Given the description of an element on the screen output the (x, y) to click on. 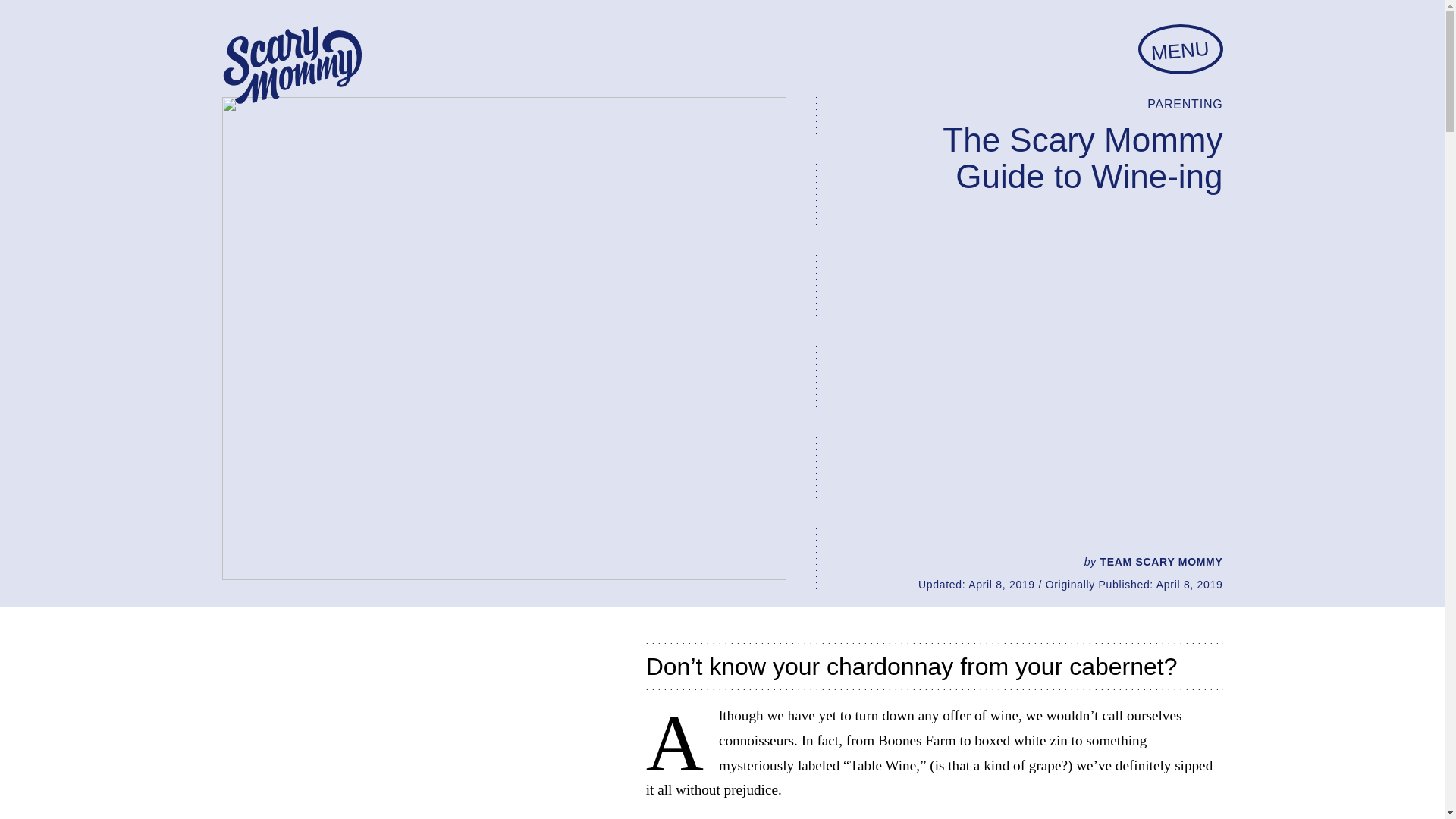
Scary Mommy (291, 64)
